Given the description of an element on the screen output the (x, y) to click on. 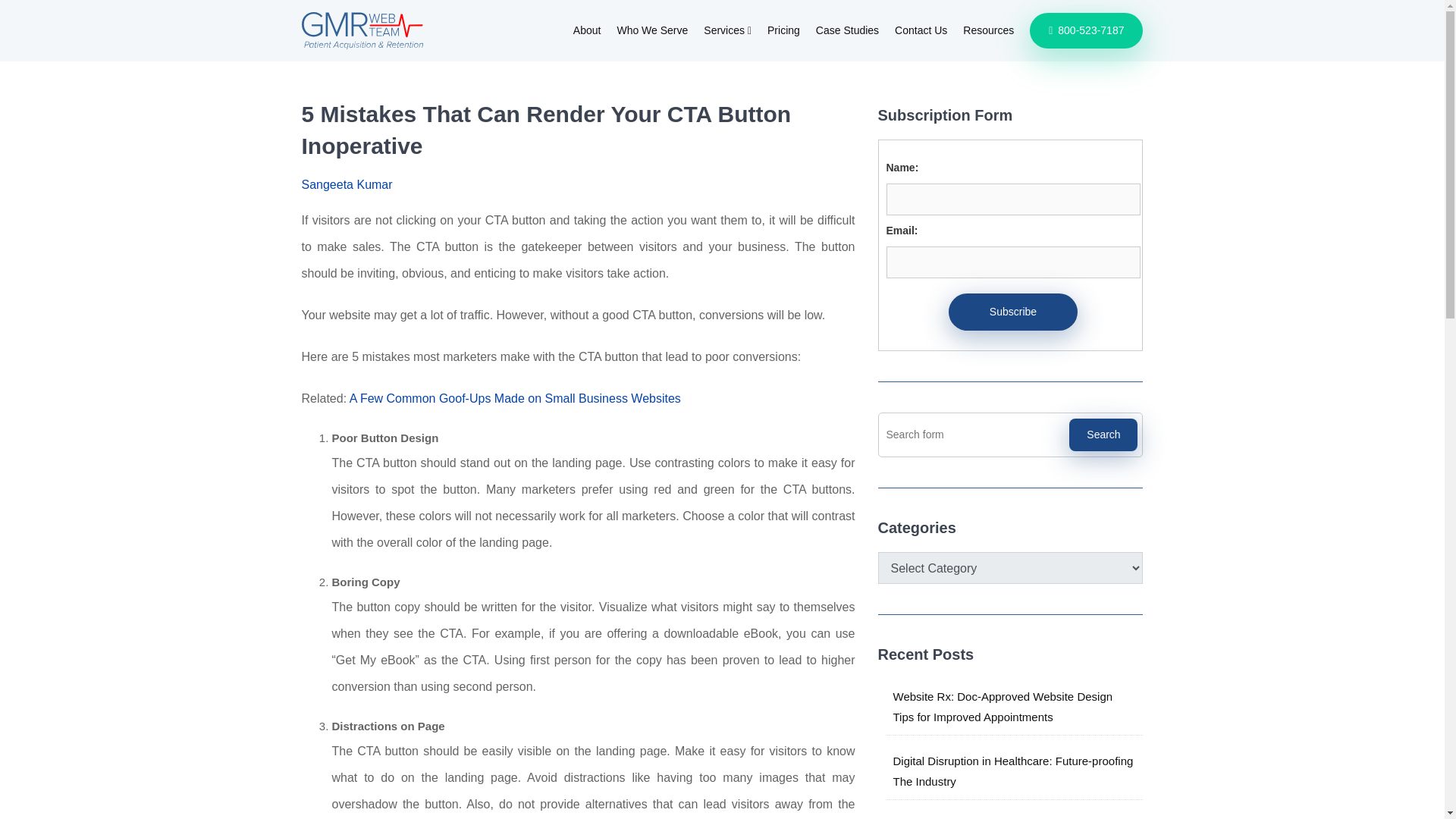
Subscribe (1013, 311)
Who We Serve (651, 30)
Who We Serve (651, 30)
Search (1102, 434)
GMR Web Team (362, 29)
